Given the description of an element on the screen output the (x, y) to click on. 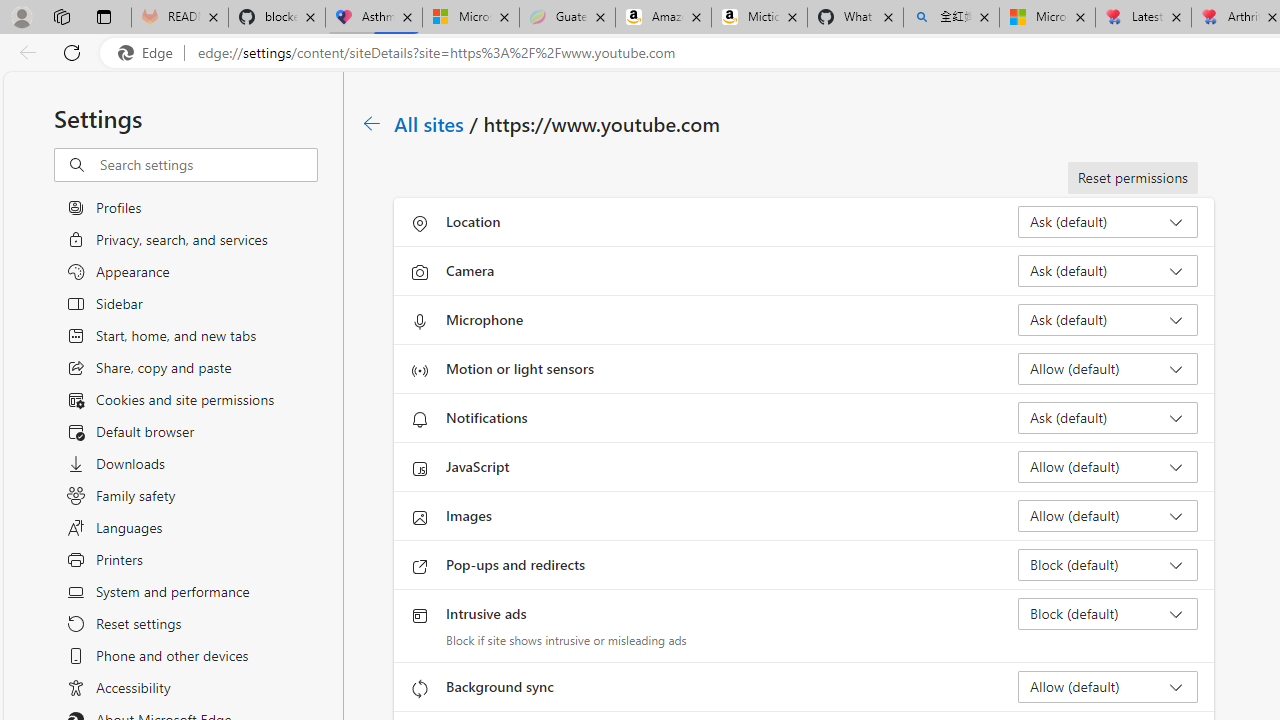
Motion or light sensors Allow (default) (1107, 368)
Reset permissions (1132, 177)
JavaScript Allow (default) (1107, 466)
All sites (429, 123)
Images Allow (default) (1107, 515)
Asthma Inhalers: Names and Types (374, 17)
Background sync Allow (default) (1107, 686)
